Given the description of an element on the screen output the (x, y) to click on. 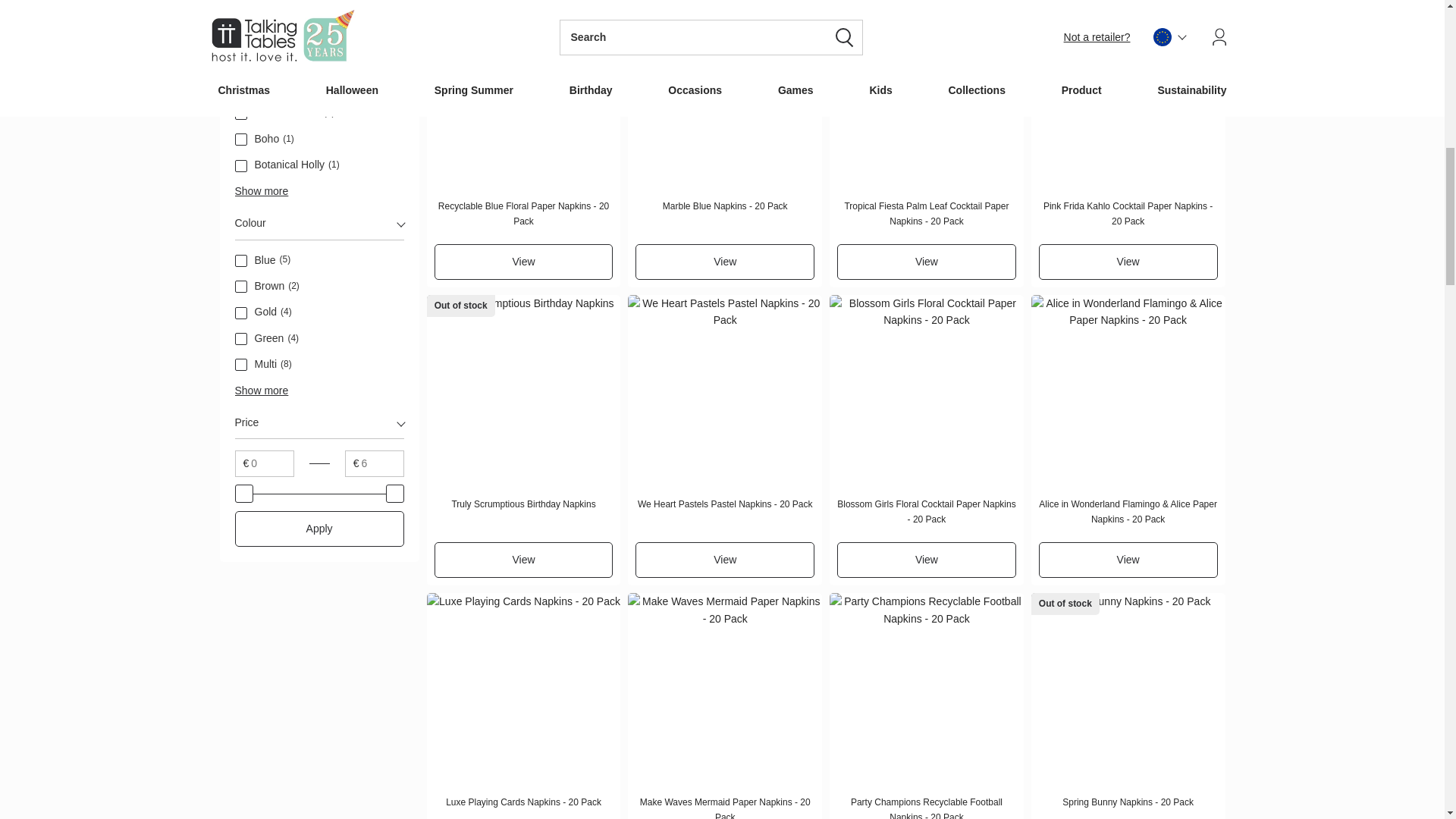
Blue (240, 260)
Alice Brights (240, 61)
Botanical Holly (240, 165)
Brown (240, 286)
Birthday Brights (240, 87)
Blossom Girls (240, 113)
Boho (240, 139)
Green (240, 338)
Gold (240, 313)
Multi (240, 364)
